Given the description of an element on the screen output the (x, y) to click on. 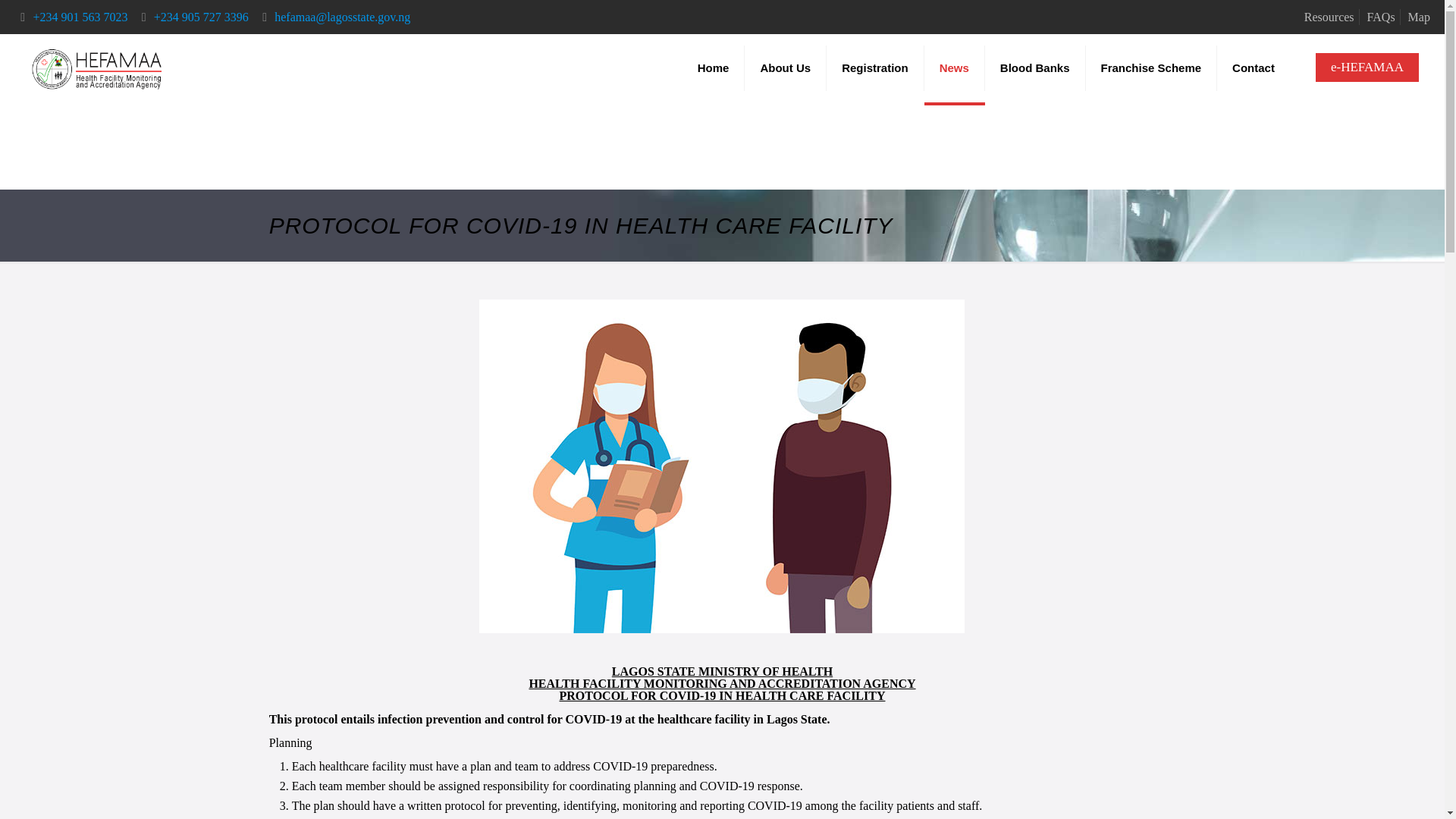
Contact (1253, 68)
Blood Banks (1035, 68)
Home (713, 68)
HEFAMAA (97, 68)
About Us (785, 68)
Registration (875, 68)
Franchise Scheme (1151, 68)
Map (1418, 16)
FAQs (1380, 16)
e-HEFAMAA (1367, 67)
